Given the description of an element on the screen output the (x, y) to click on. 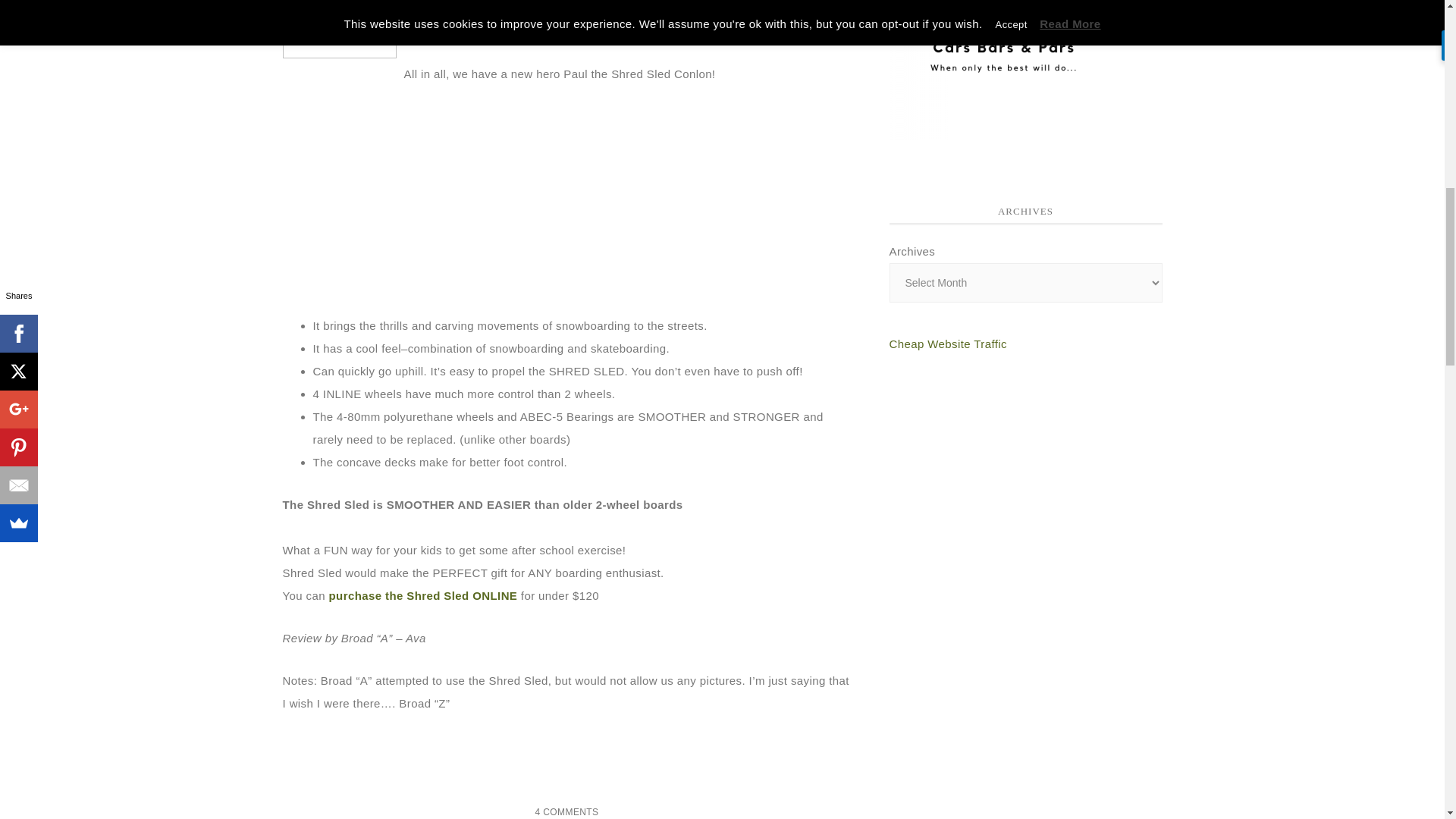
4 COMMENTS (566, 811)
purchase the Shred Sled ONLINE (423, 594)
Shred Sled (617, 7)
